Given the description of an element on the screen output the (x, y) to click on. 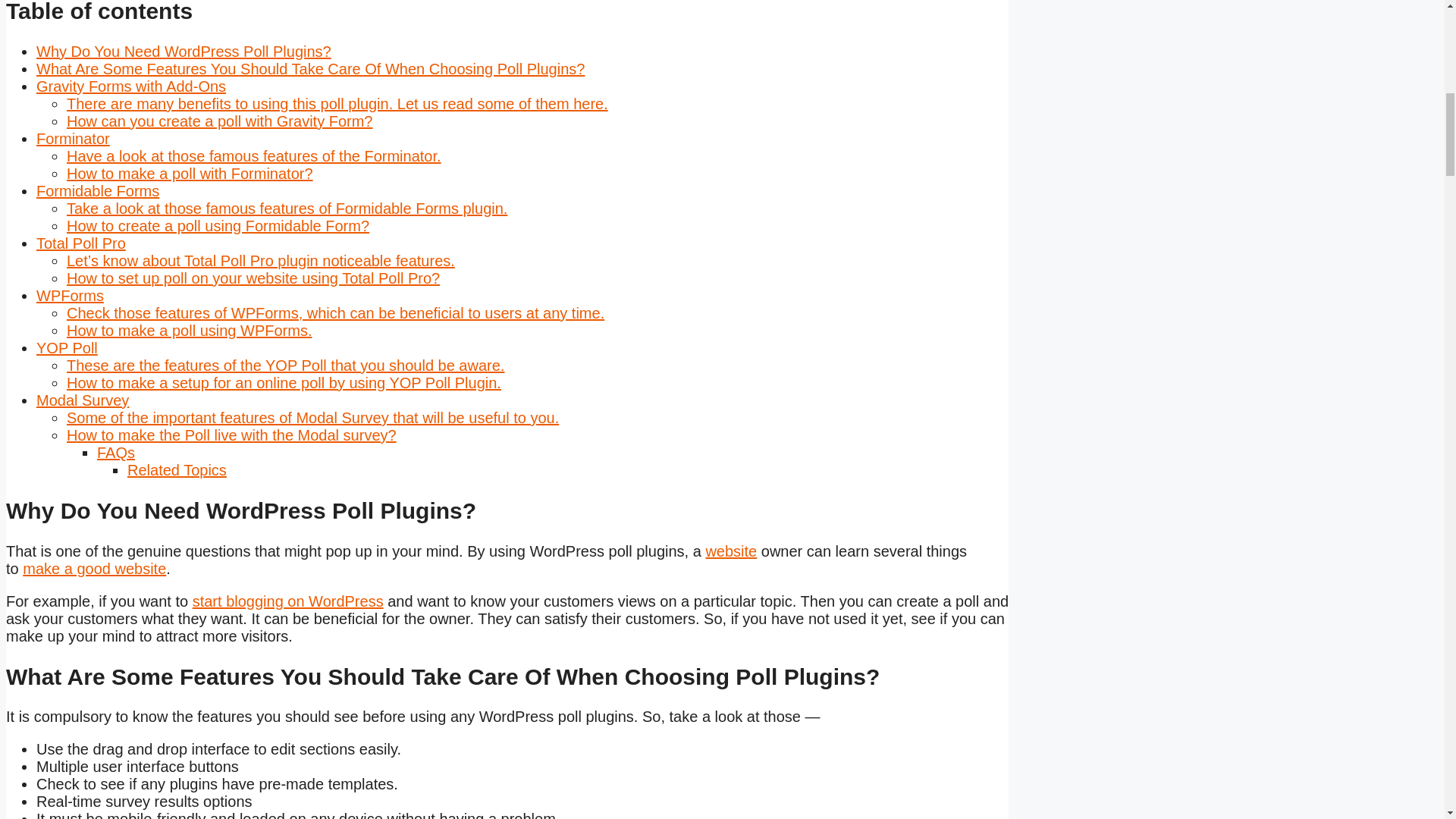
How can you create a poll with Gravity Form? (219, 121)
How to make a poll with Forminator? (189, 173)
Forminator (73, 138)
Gravity Forms with Add-Ons (130, 86)
Why Do You Need WordPress Poll Plugins? (183, 51)
Have a look at those famous features of the Forminator. (253, 156)
Scroll back to top (1406, 720)
